Given the description of an element on the screen output the (x, y) to click on. 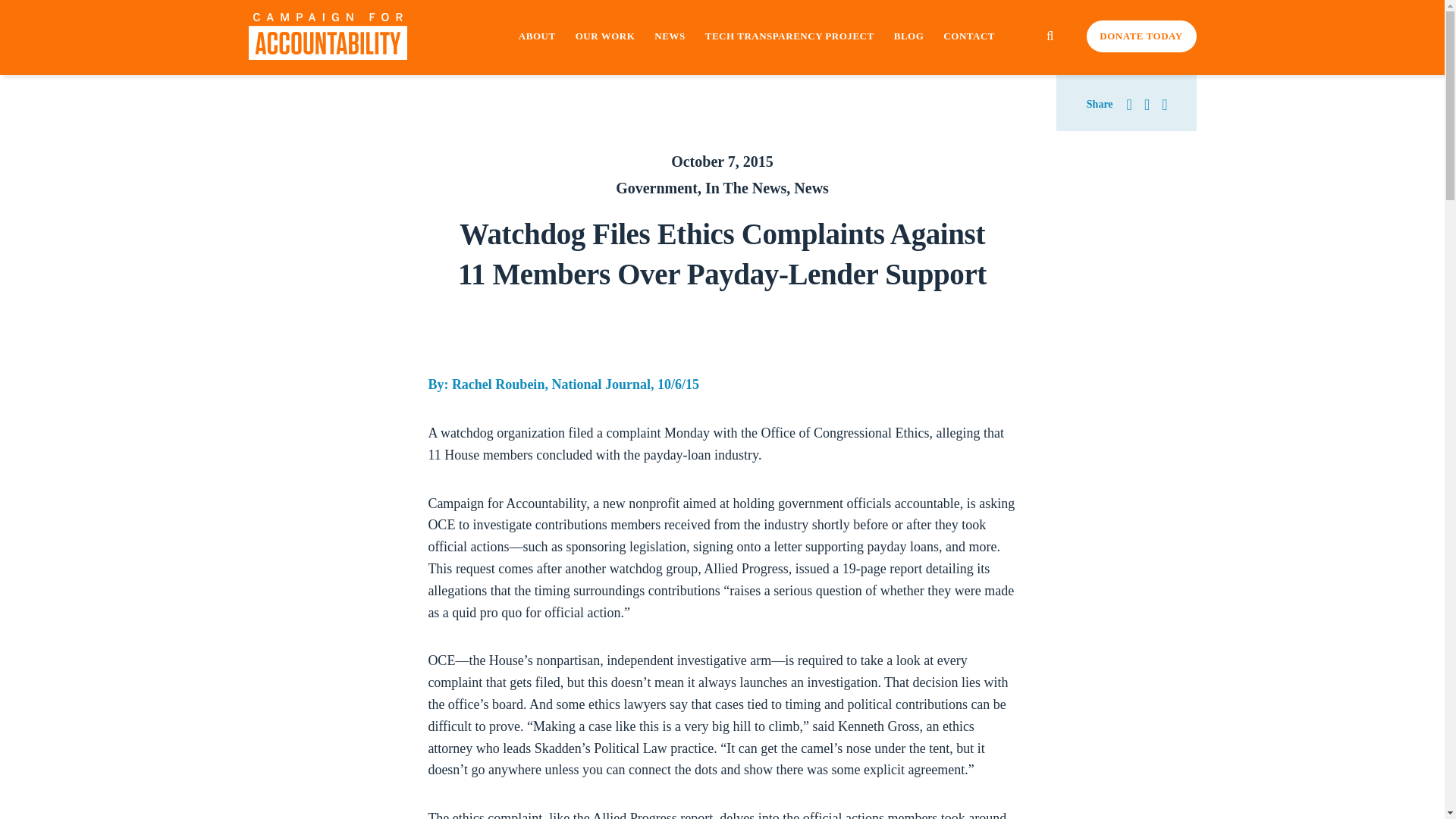
DONATE TODAY (1140, 36)
ABOUT (537, 35)
CONTACT (968, 35)
BLOG (908, 35)
TECH TRANSPARENCY PROJECT (789, 35)
OUR WORK (604, 35)
NEWS (668, 35)
